Given the description of an element on the screen output the (x, y) to click on. 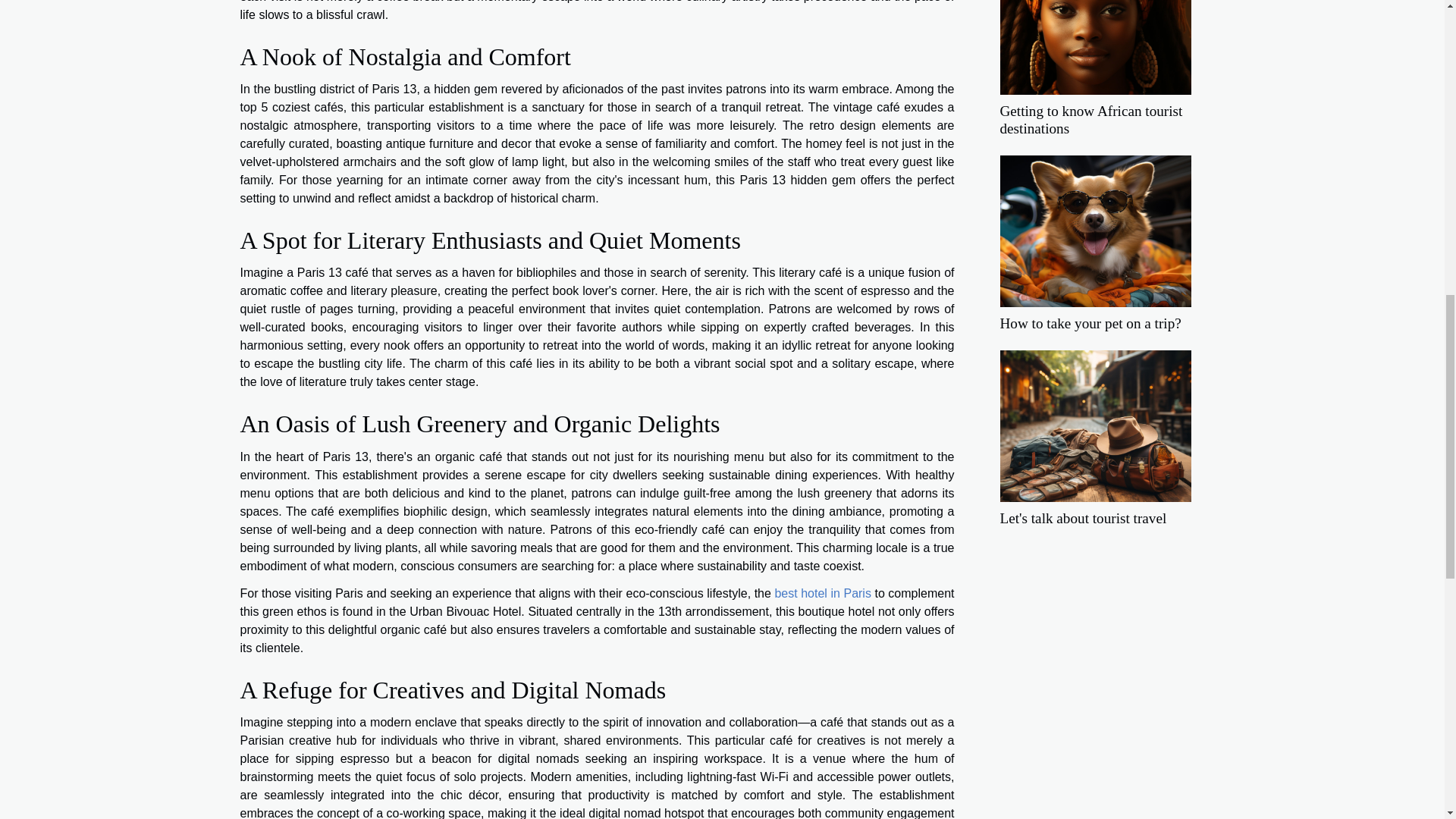
How to take your pet on a trip? (1089, 323)
Let's talk about tourist travel (1082, 518)
How to take your pet on a trip? (1089, 323)
best hotel in Paris (822, 593)
Getting to know African tourist destinations (1090, 119)
Getting to know African tourist destinations (1090, 119)
Getting to know African tourist destinations (1094, 17)
Let's talk about tourist travel (1094, 424)
How to take your pet on a trip? (1094, 229)
Let's talk about tourist travel (1082, 518)
